Given the description of an element on the screen output the (x, y) to click on. 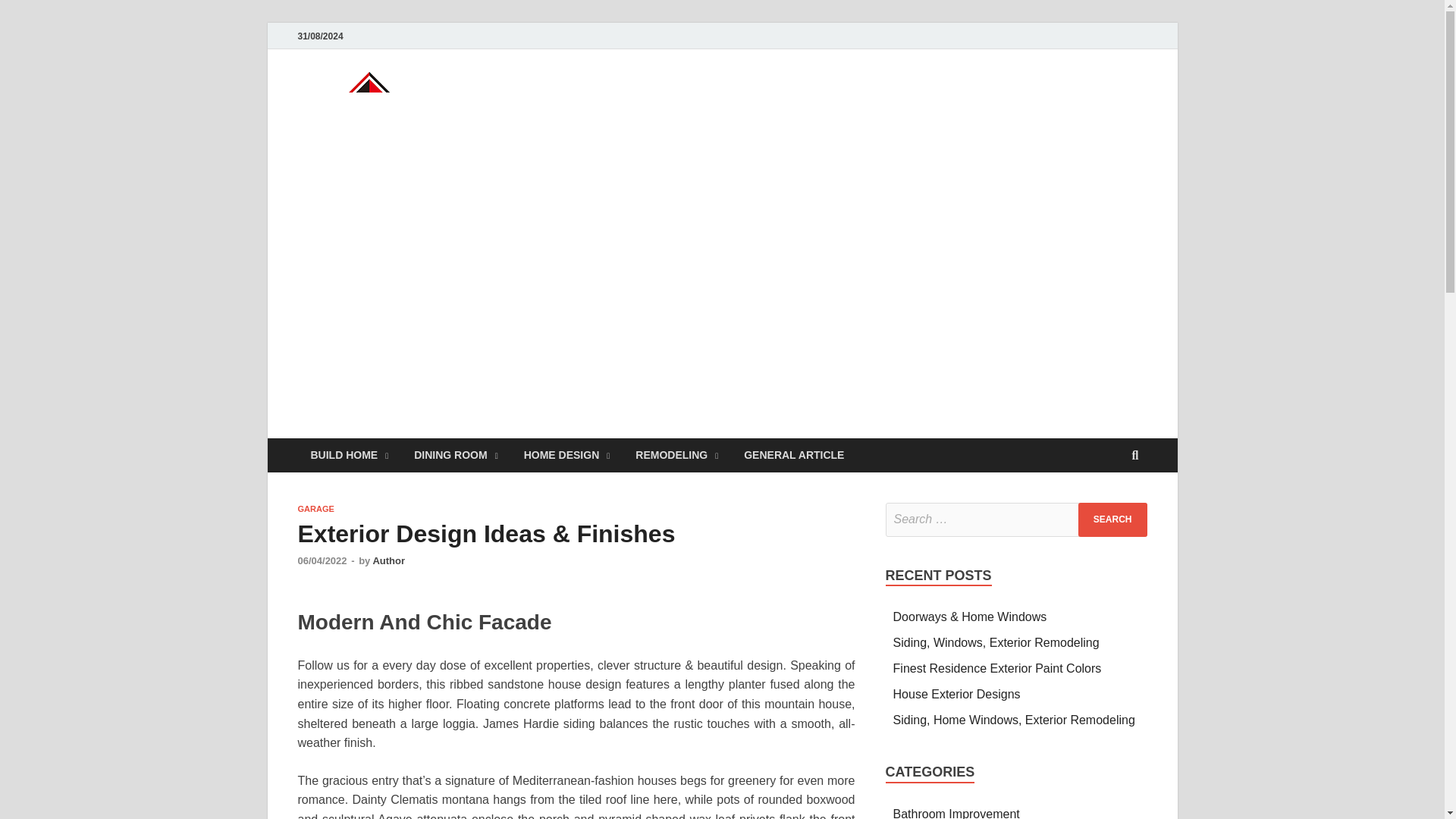
Search (1112, 519)
REMODELING (676, 455)
Author (388, 560)
GENERAL ARTICLE (793, 455)
homethai.net (621, 100)
HOME DESIGN (567, 455)
GARAGE (315, 508)
BUILD HOME (349, 455)
DINING ROOM (456, 455)
Search (1112, 519)
